Given the description of an element on the screen output the (x, y) to click on. 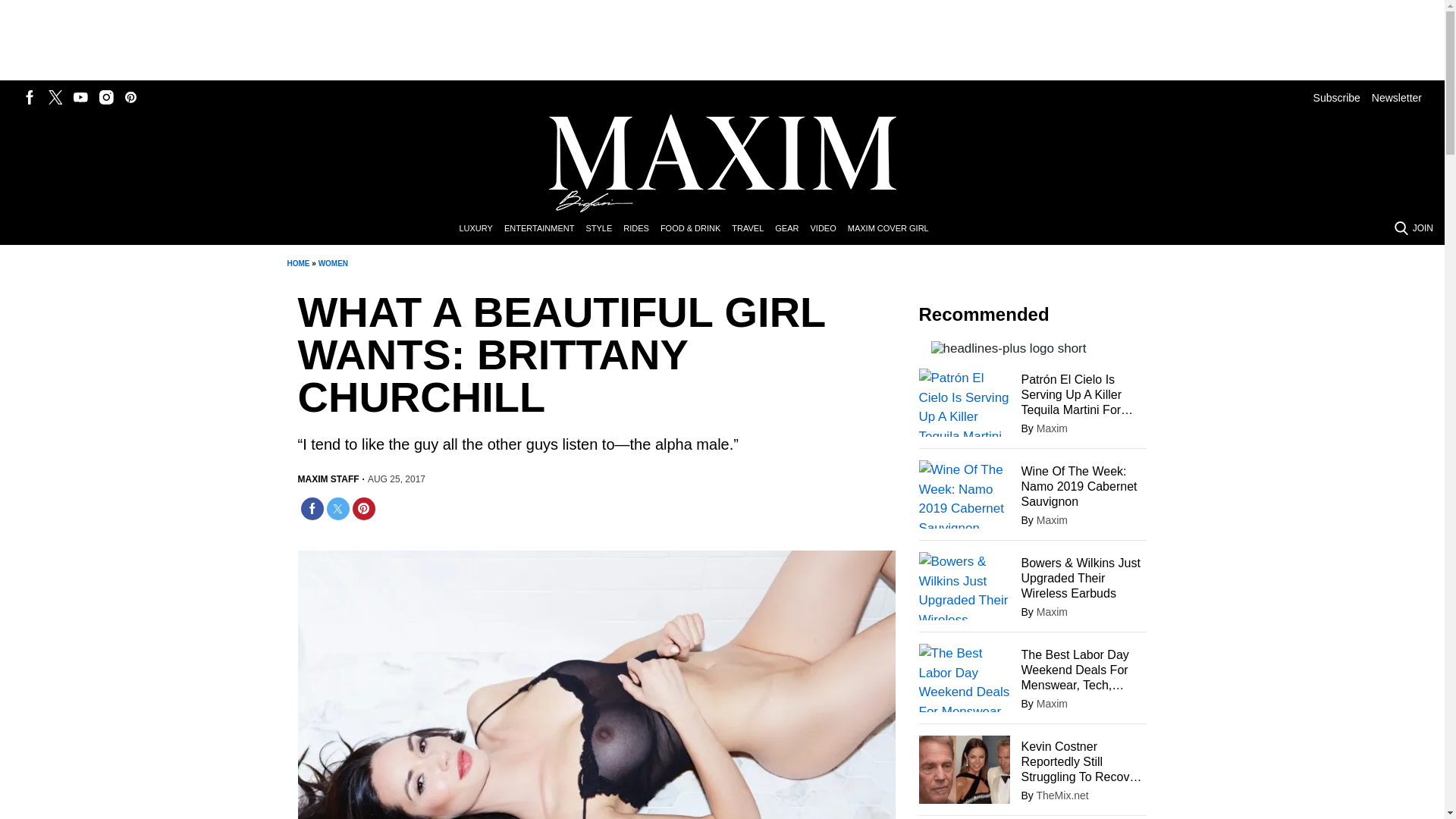
VIDEO (828, 228)
MAXIM STAFF (327, 479)
Follow us on Twitter (55, 97)
Follow us on Youtube (80, 97)
LUXURY (480, 228)
Share on Twitter (337, 508)
WOMEN (332, 263)
RIDES (642, 228)
TRAVEL (753, 228)
Follow us on Facebook (30, 97)
